Given the description of an element on the screen output the (x, y) to click on. 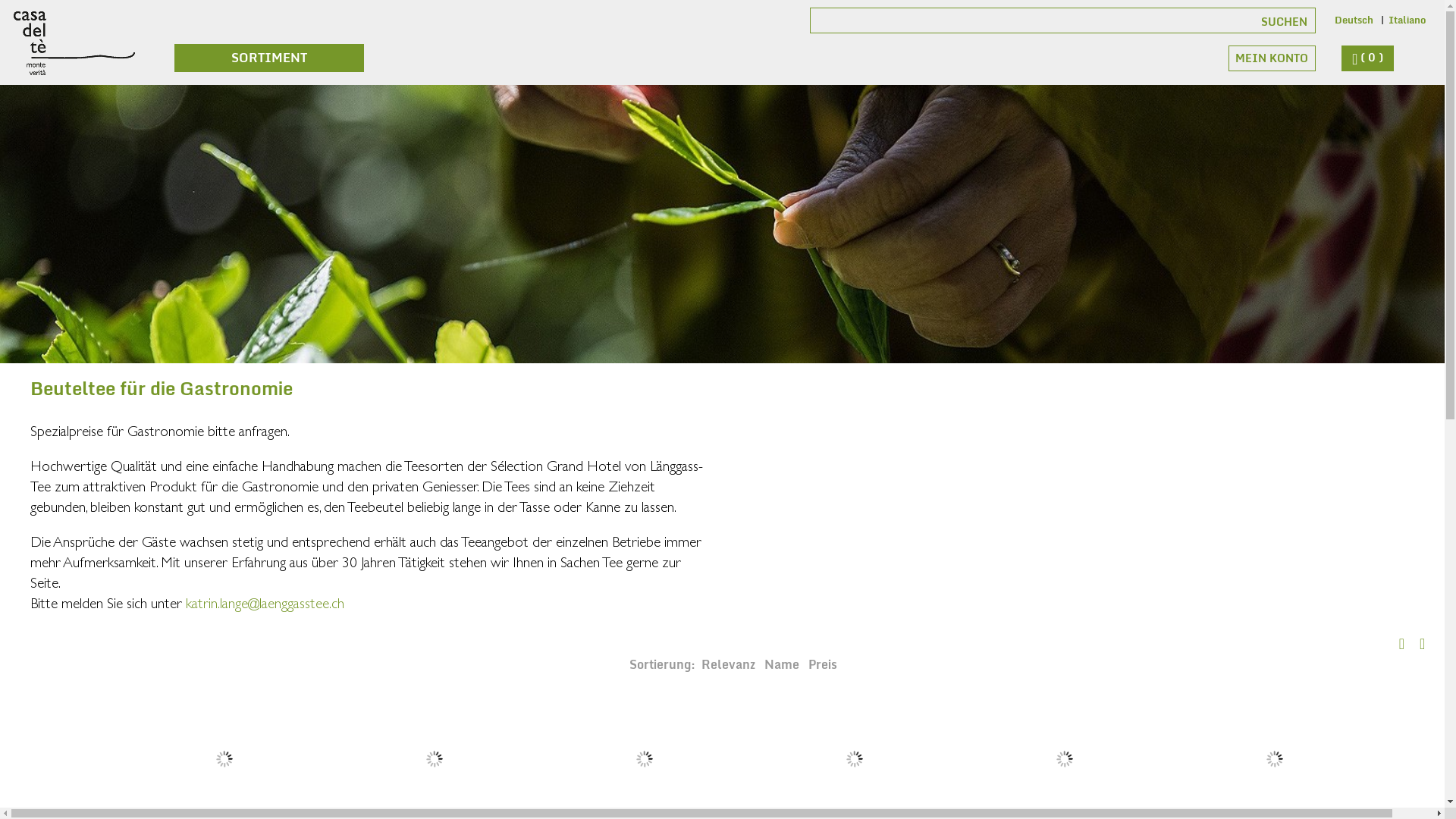
Deutsch Element type: text (1353, 19)
SUCHEN Element type: text (1229, 19)
Relevanz Element type: text (728, 664)
MEIN KONTO Element type: text (1271, 57)
Italiano Element type: text (1406, 19)
Name Element type: text (783, 664)
0 Element type: text (1367, 58)
katrin.lange@laenggasstee.ch Element type: text (264, 602)
Preis Element type: text (822, 664)
